Given the description of an element on the screen output the (x, y) to click on. 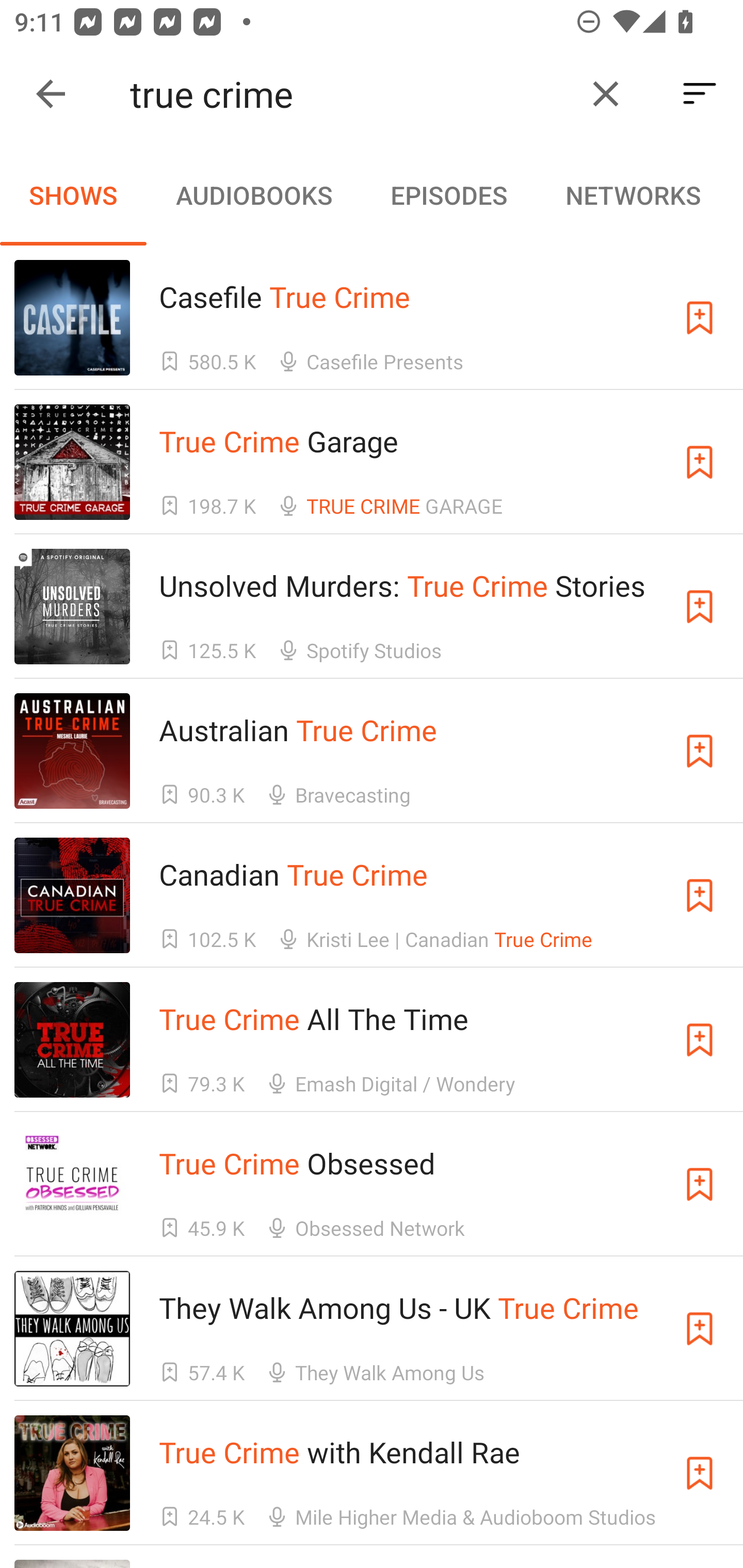
Collapse (50, 93)
Clear query (605, 93)
Sort By (699, 93)
true crime (349, 94)
SHOWS (73, 195)
AUDIOBOOKS (253, 195)
EPISODES (448, 195)
NETWORKS (632, 195)
Subscribe (699, 317)
Subscribe (699, 462)
Subscribe (699, 606)
Subscribe (699, 751)
Subscribe (699, 895)
Subscribe (699, 1039)
Subscribe (699, 1183)
Subscribe (699, 1328)
Subscribe (699, 1472)
